Given the description of an element on the screen output the (x, y) to click on. 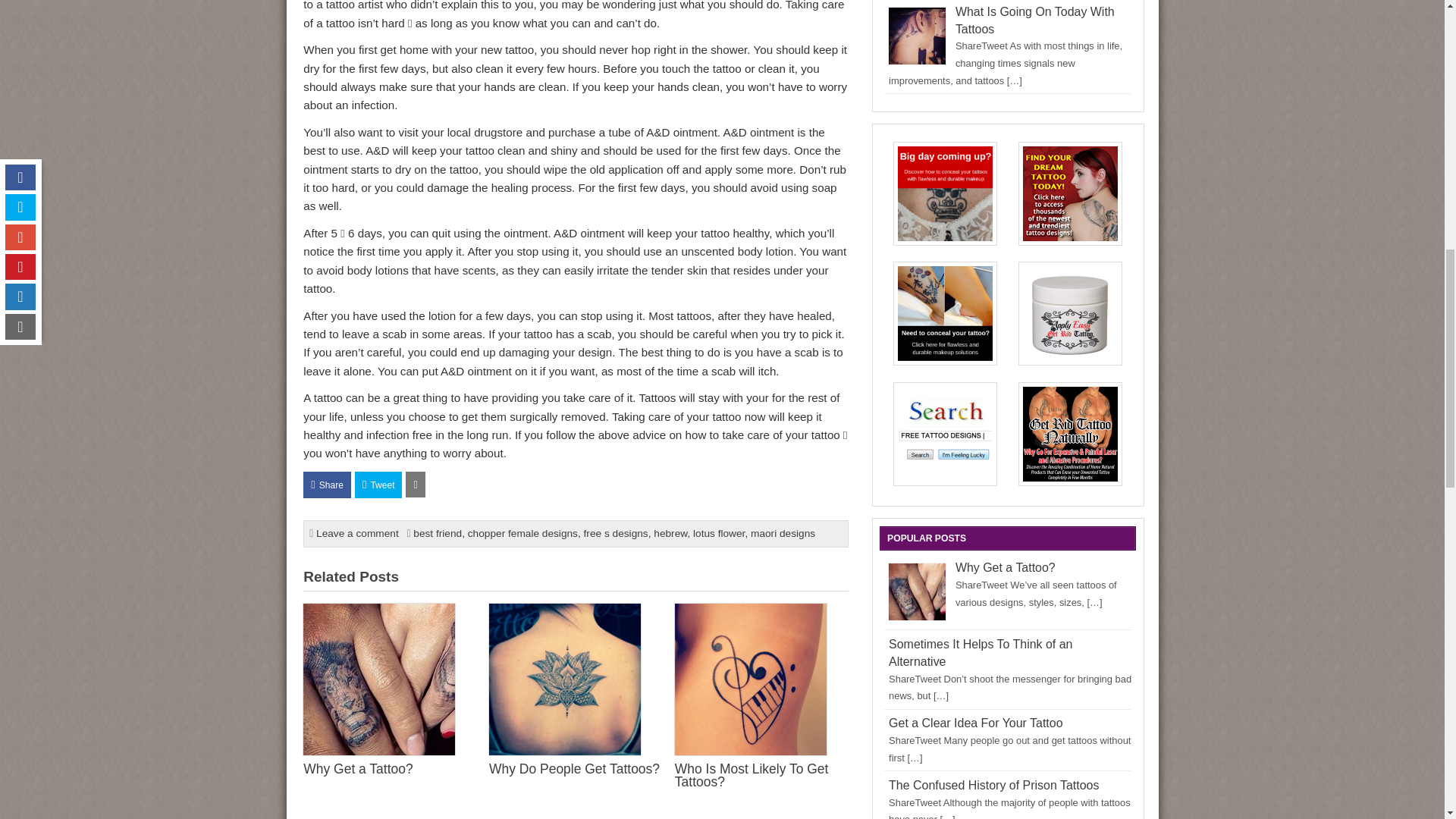
Tweet on Twitter (379, 484)
Share (326, 484)
Tweet (379, 484)
Share On Facebook (326, 484)
